Given the description of an element on the screen output the (x, y) to click on. 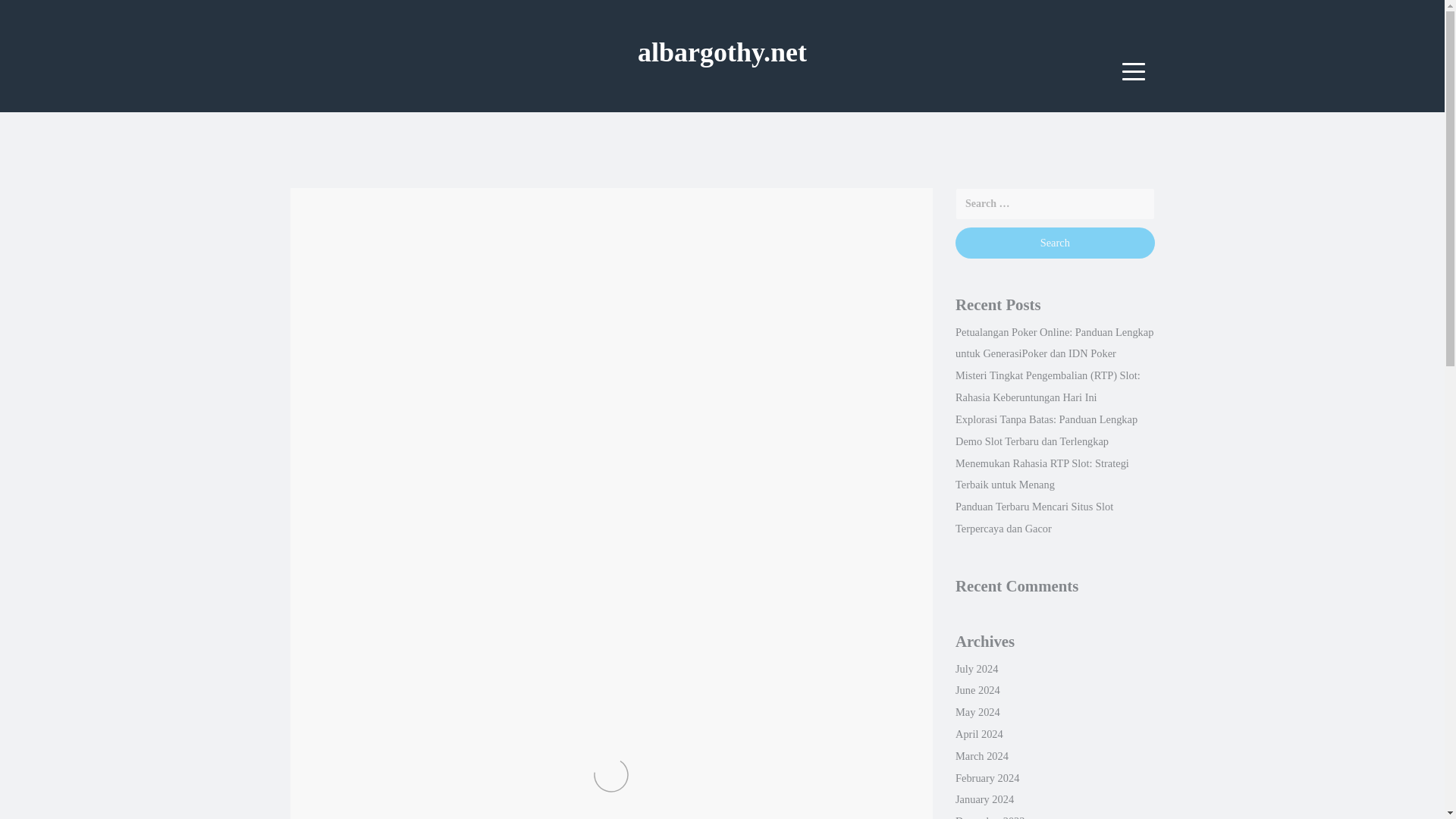
Search (1054, 242)
July 2024 (976, 668)
February 2024 (987, 777)
Search (1054, 242)
Search (1054, 242)
News (523, 265)
Panduan Terbaru Mencari Situs Slot Terpercaya dan Gacor (1034, 517)
January 2024 (984, 799)
March 31, 2024 (362, 265)
Menemukan Rahasia RTP Slot: Strategi Terbaik untuk Menang (1042, 474)
albargothy.net (721, 51)
April 2024 (979, 734)
May 2024 (977, 711)
